Given the description of an element on the screen output the (x, y) to click on. 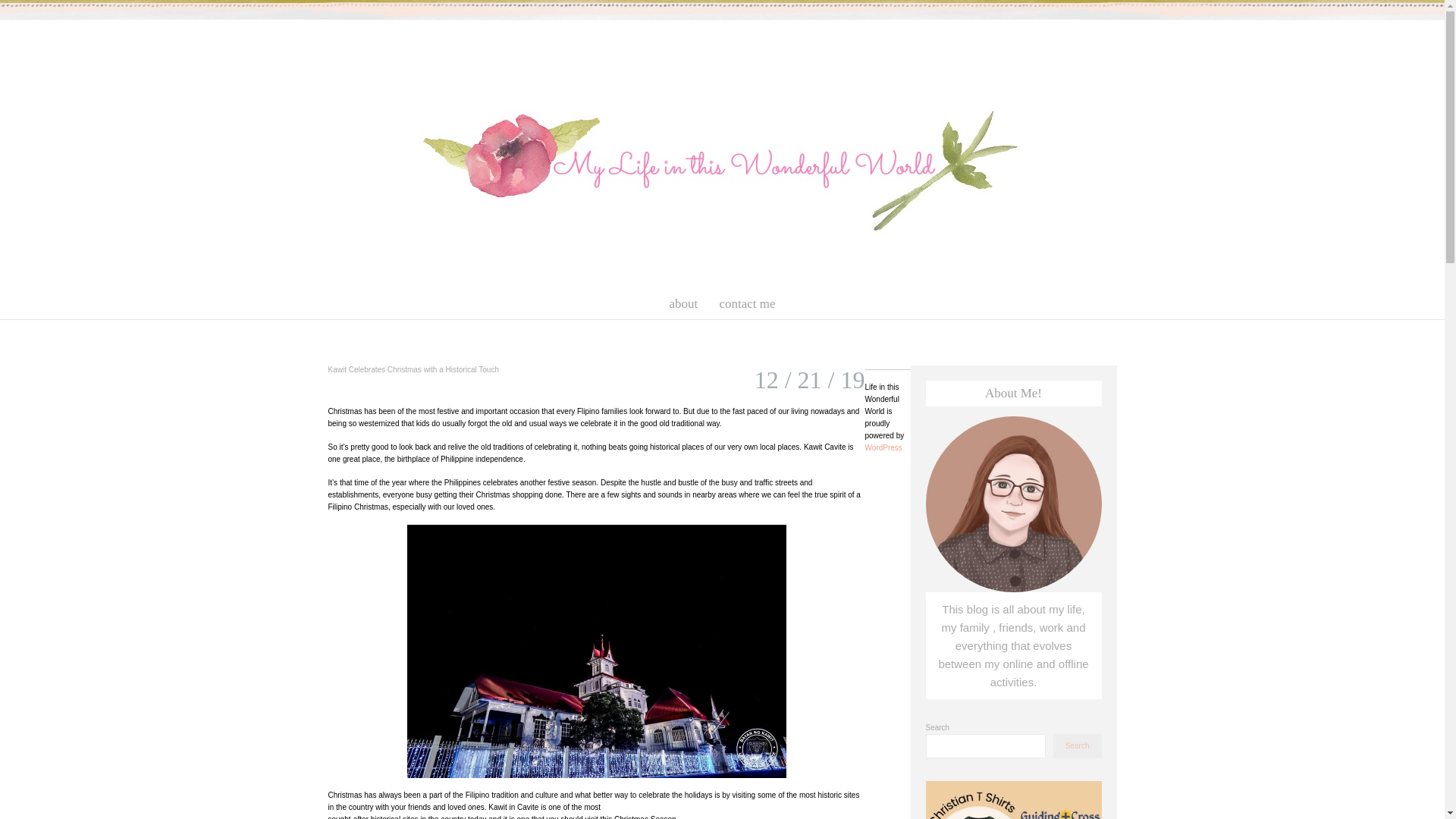
Search (1077, 745)
contact me (747, 303)
skip to content (313, 296)
about (682, 303)
WordPress (882, 447)
